Given the description of an element on the screen output the (x, y) to click on. 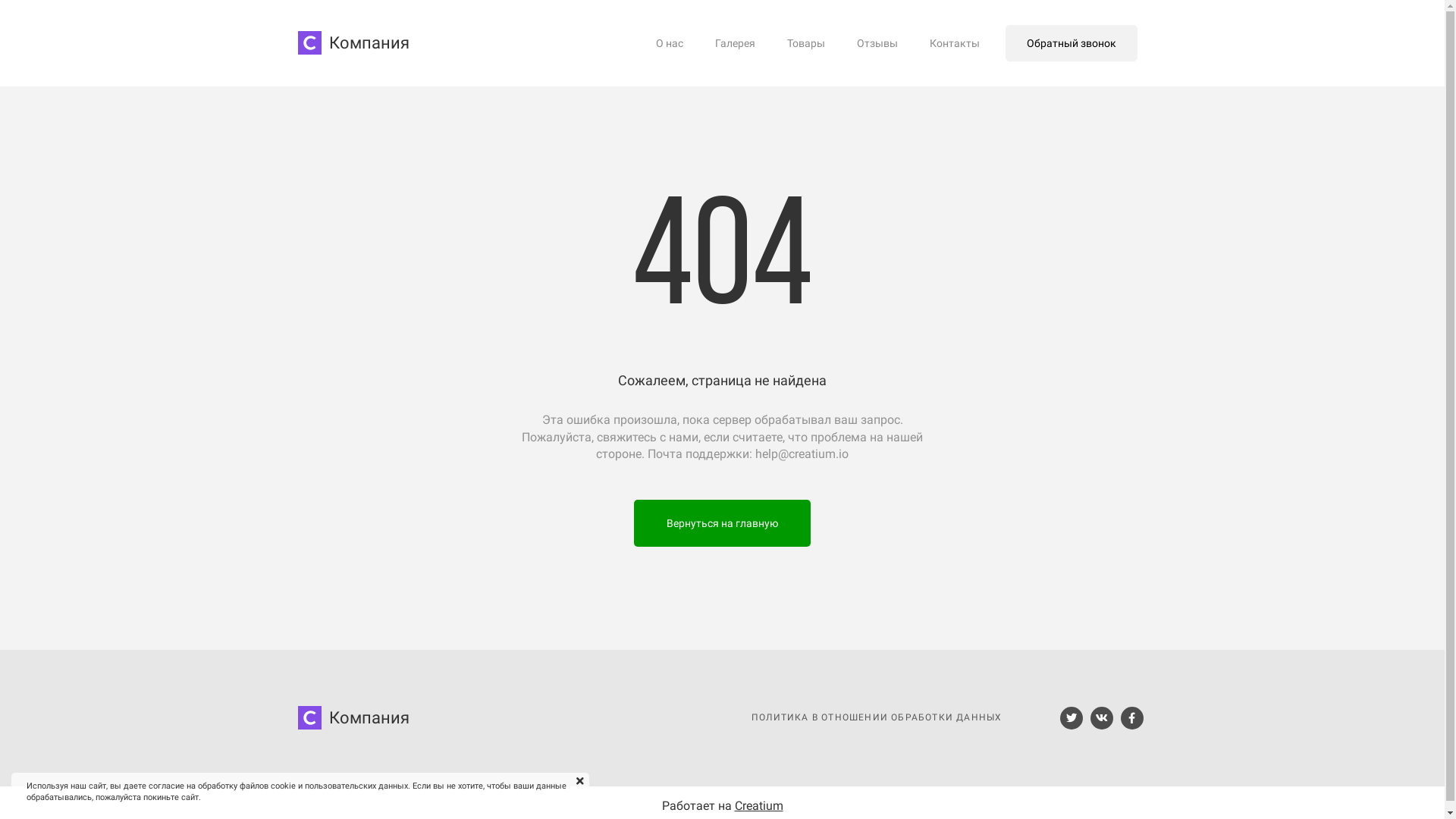
Creatium Element type: text (758, 804)
